Given the description of an element on the screen output the (x, y) to click on. 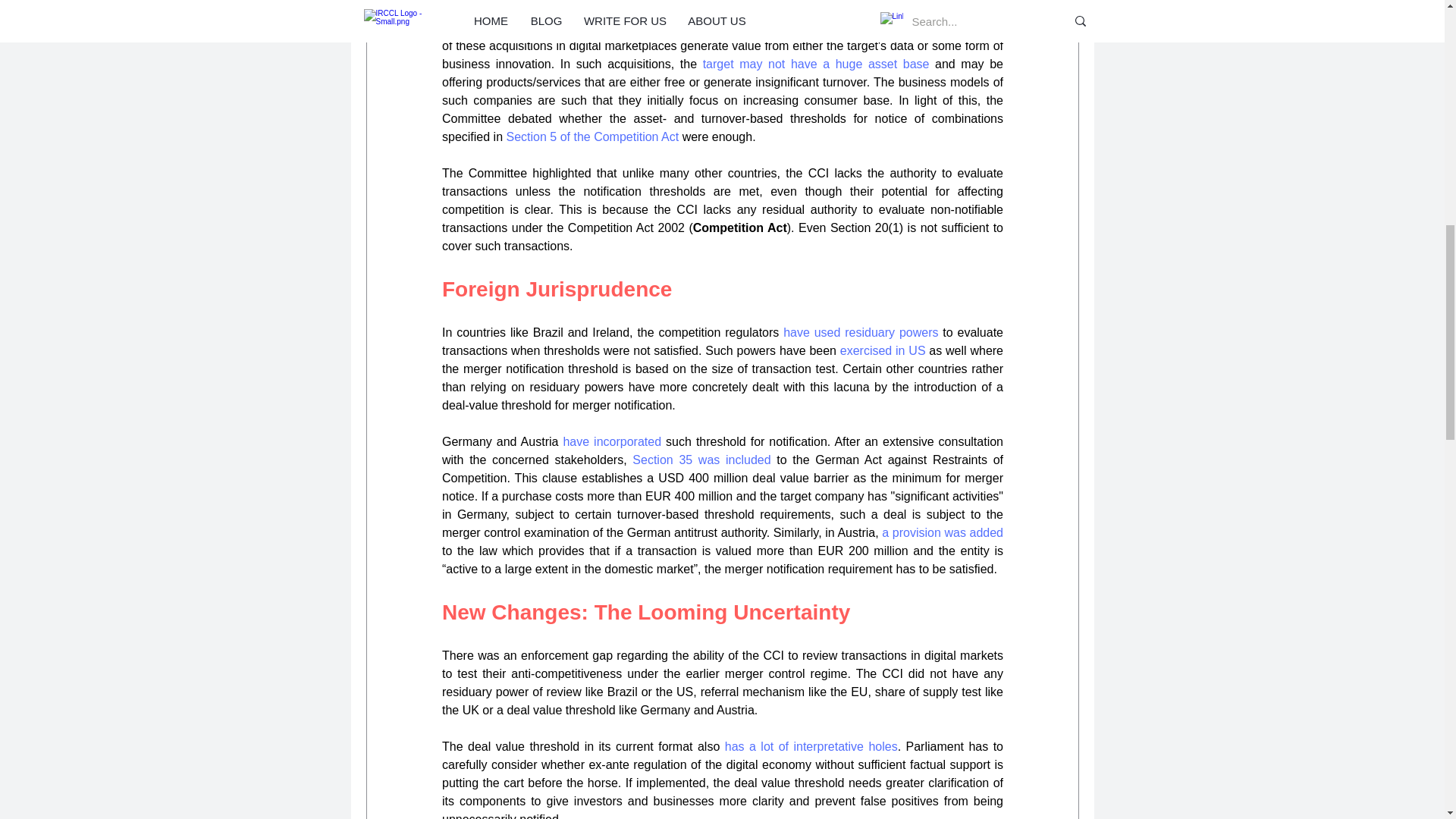
Section 5 of the Competition Act (591, 136)
have used residuary powers (860, 332)
target may not have a huge asset base (814, 63)
has a lot of interpretative holes (809, 746)
Section 35 was included (700, 459)
have incorporated (611, 440)
exercised in US (882, 350)
a provision was added (942, 532)
